Given the description of an element on the screen output the (x, y) to click on. 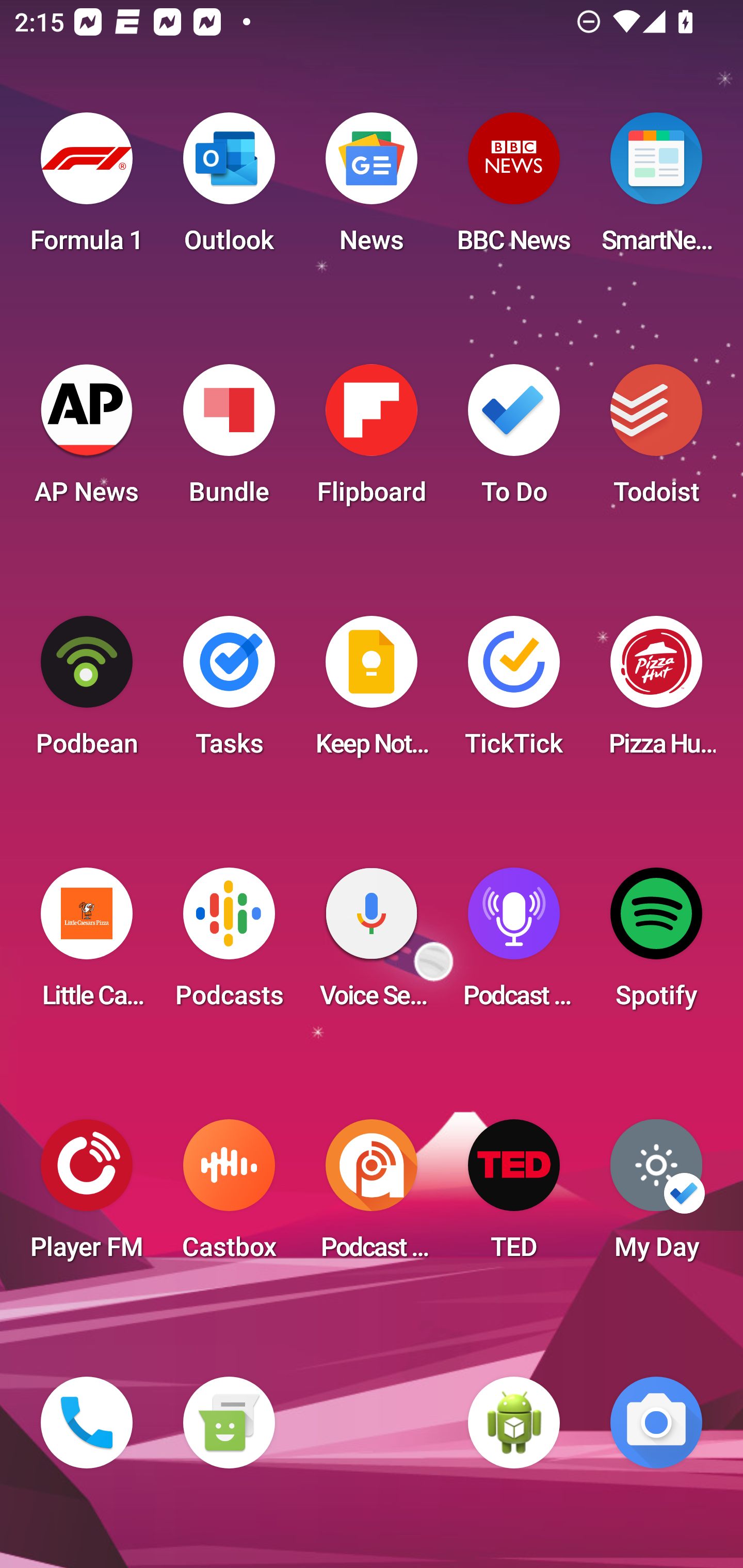
Formula 1 (86, 188)
Outlook (228, 188)
News (371, 188)
BBC News (513, 188)
SmartNews (656, 188)
AP News (86, 440)
Bundle (228, 440)
Flipboard (371, 440)
To Do (513, 440)
Todoist (656, 440)
Podbean (86, 692)
Tasks (228, 692)
Keep Notes (371, 692)
TickTick (513, 692)
Pizza Hut HK & Macau (656, 692)
Little Caesars Pizza (86, 943)
Podcasts (228, 943)
Voice Search (371, 943)
Podcast Player (513, 943)
Spotify (656, 943)
Player FM (86, 1195)
Castbox (228, 1195)
Podcast Addict (371, 1195)
TED (513, 1195)
My Day (656, 1195)
Phone (86, 1422)
Messaging (228, 1422)
WebView Browser Tester (513, 1422)
Camera (656, 1422)
